Given the description of an element on the screen output the (x, y) to click on. 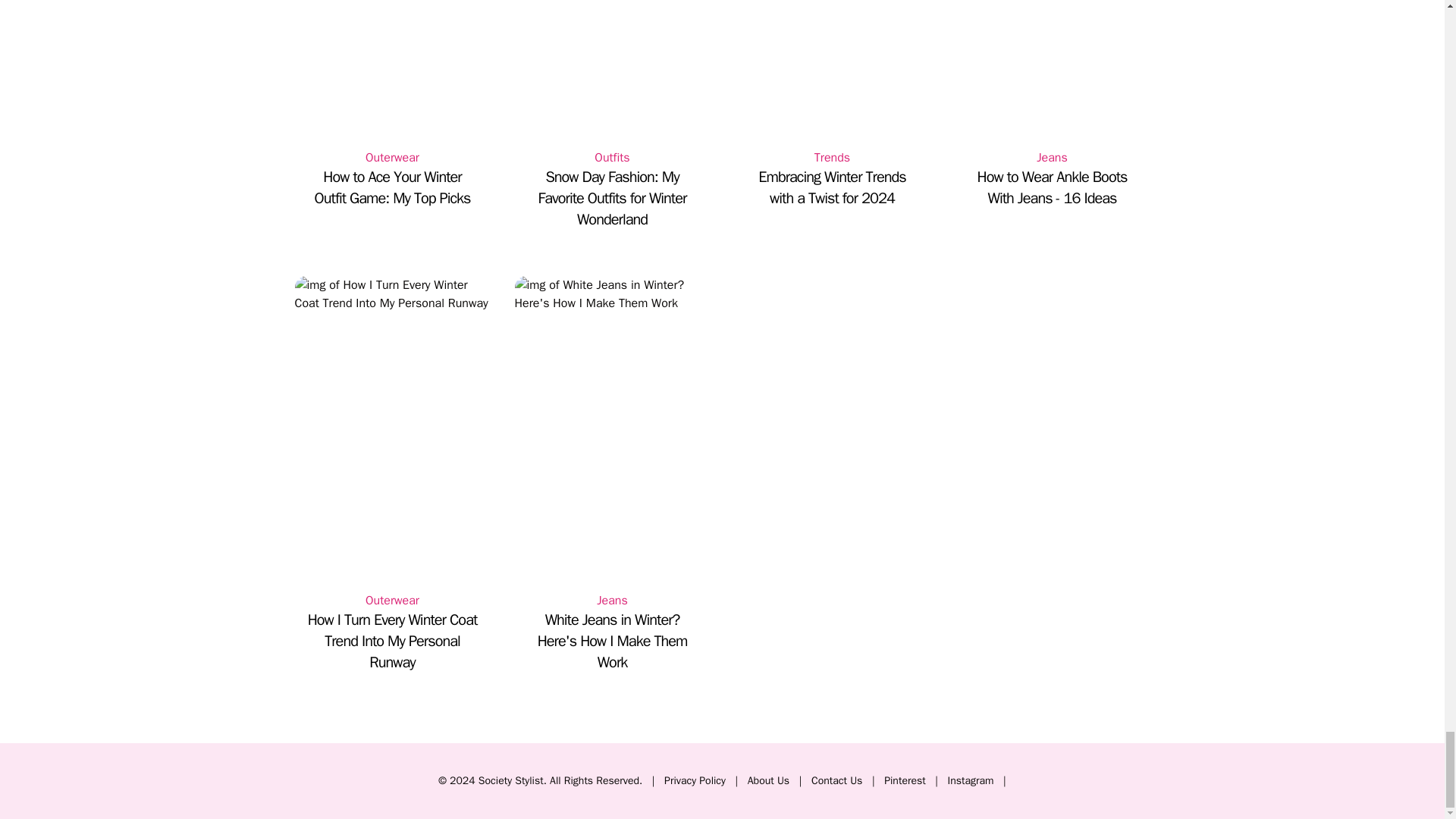
Embracing Winter Trends with a Twist for 2024 (831, 188)
Trends (831, 157)
Outfits (611, 157)
Contact Us (835, 780)
How to Wear Ankle Boots With Jeans - 16 Ideas (1051, 188)
Jeans (1051, 157)
Snow Day Fashion: My Favorite Outfits for Winter Wonderland (611, 198)
Outerwear (391, 157)
How to Ace Your Winter Outfit Game: My Top Picks (391, 188)
Pinterest (904, 780)
Privacy Policy (694, 780)
About Us (768, 780)
White Jeans in Winter? Here's How I Make Them Work (611, 641)
Jeans (611, 600)
How I Turn Every Winter Coat Trend Into My Personal Runway (391, 641)
